Given the description of an element on the screen output the (x, y) to click on. 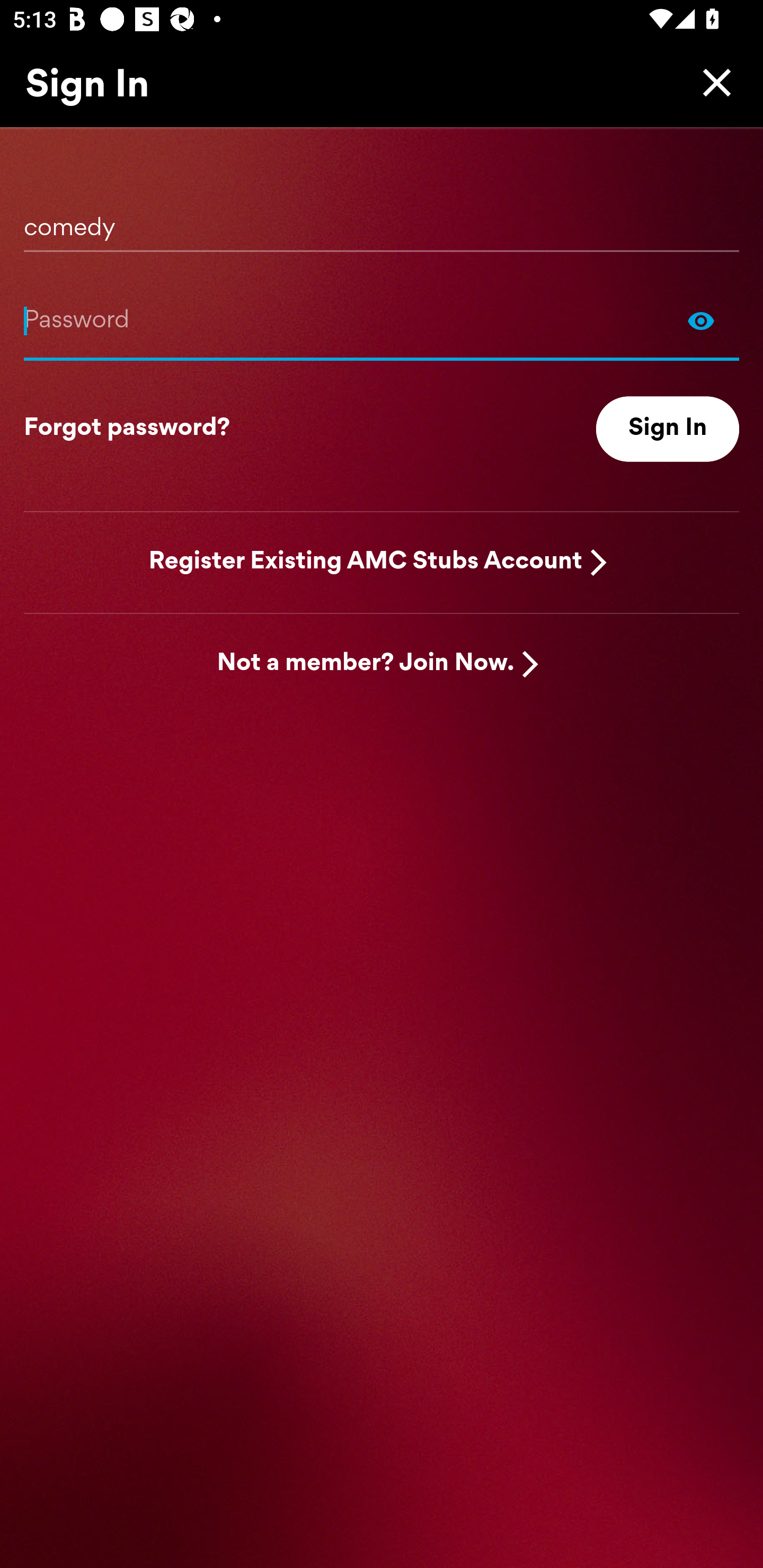
Close (712, 82)
comedy (381, 220)
Show Password (381, 320)
Show Password (701, 320)
Forgot password? (126, 428)
Sign In (667, 428)
Register Existing AMC Stubs Account (365, 561)
Not a member? Join Now. (365, 663)
